Given the description of an element on the screen output the (x, y) to click on. 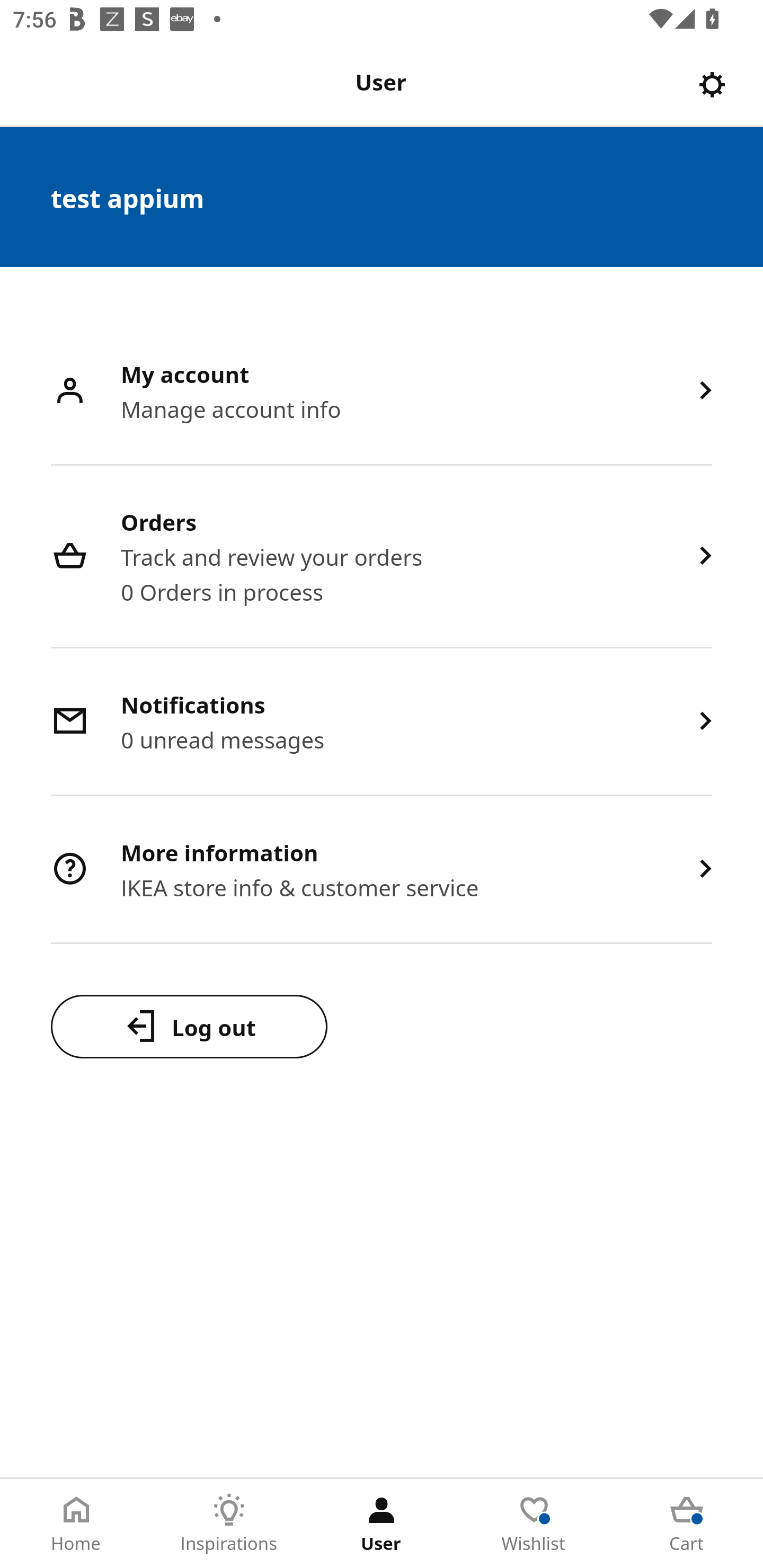
My account
Manage account info (381, 391)
Notifications
0 unread messages (381, 722)
Log out (189, 1026)
Home
Tab 1 of 5 (76, 1522)
Inspirations
Tab 2 of 5 (228, 1522)
User
Tab 3 of 5 (381, 1522)
Wishlist
Tab 4 of 5 (533, 1522)
Cart
Tab 5 of 5 (686, 1522)
